Given the description of an element on the screen output the (x, y) to click on. 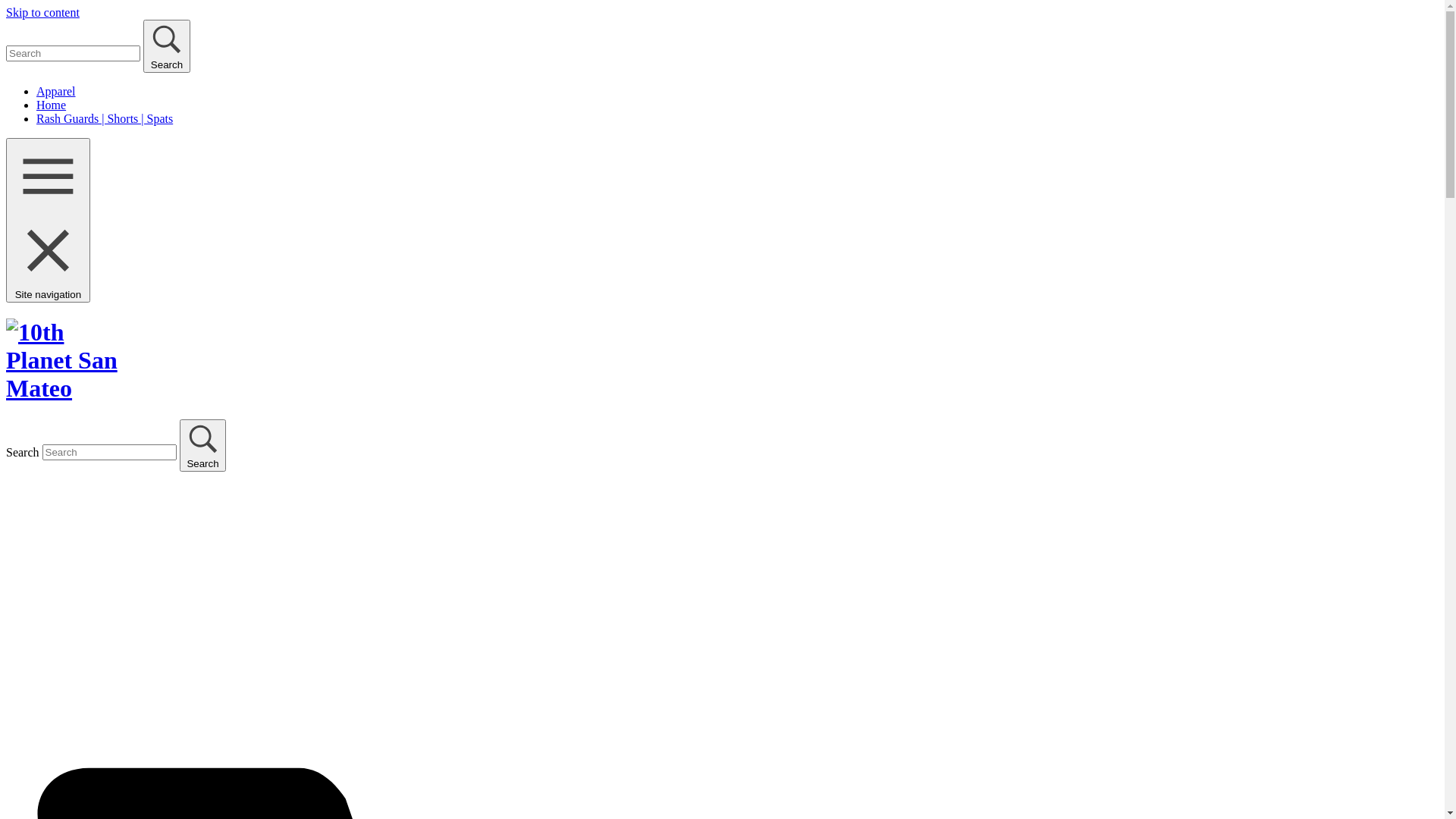
Skip to content Element type: text (42, 12)
Search Element type: text (166, 45)
Apparel Element type: text (55, 90)
Rash Guards | Shorts | Spats Element type: text (104, 118)
Home Element type: text (50, 104)
Search Element type: text (202, 444)
Site navigation Element type: text (48, 220)
